Given the description of an element on the screen output the (x, y) to click on. 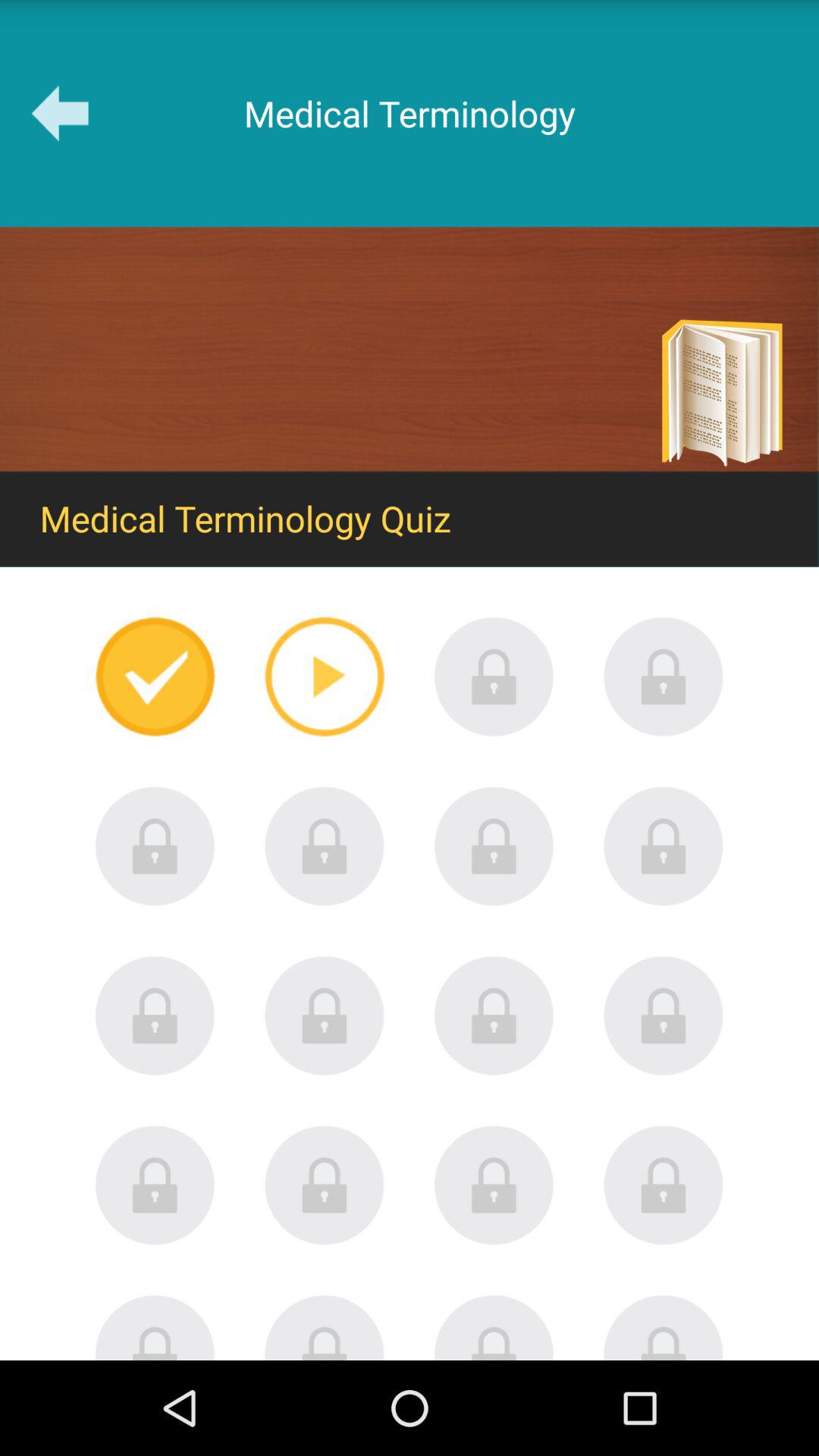
this option is locked (493, 846)
